Given the description of an element on the screen output the (x, y) to click on. 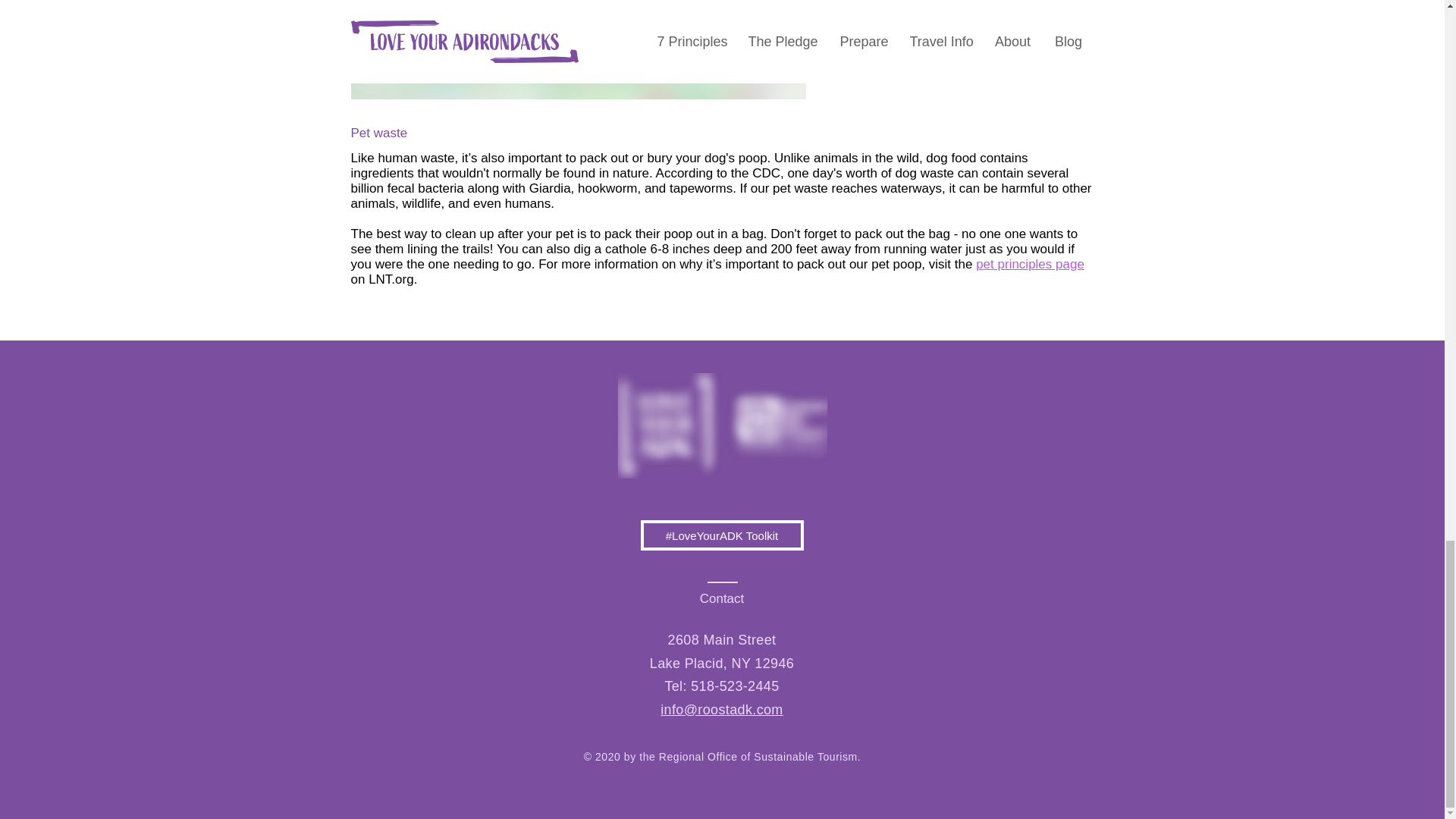
pet principles page (1029, 264)
